Given the description of an element on the screen output the (x, y) to click on. 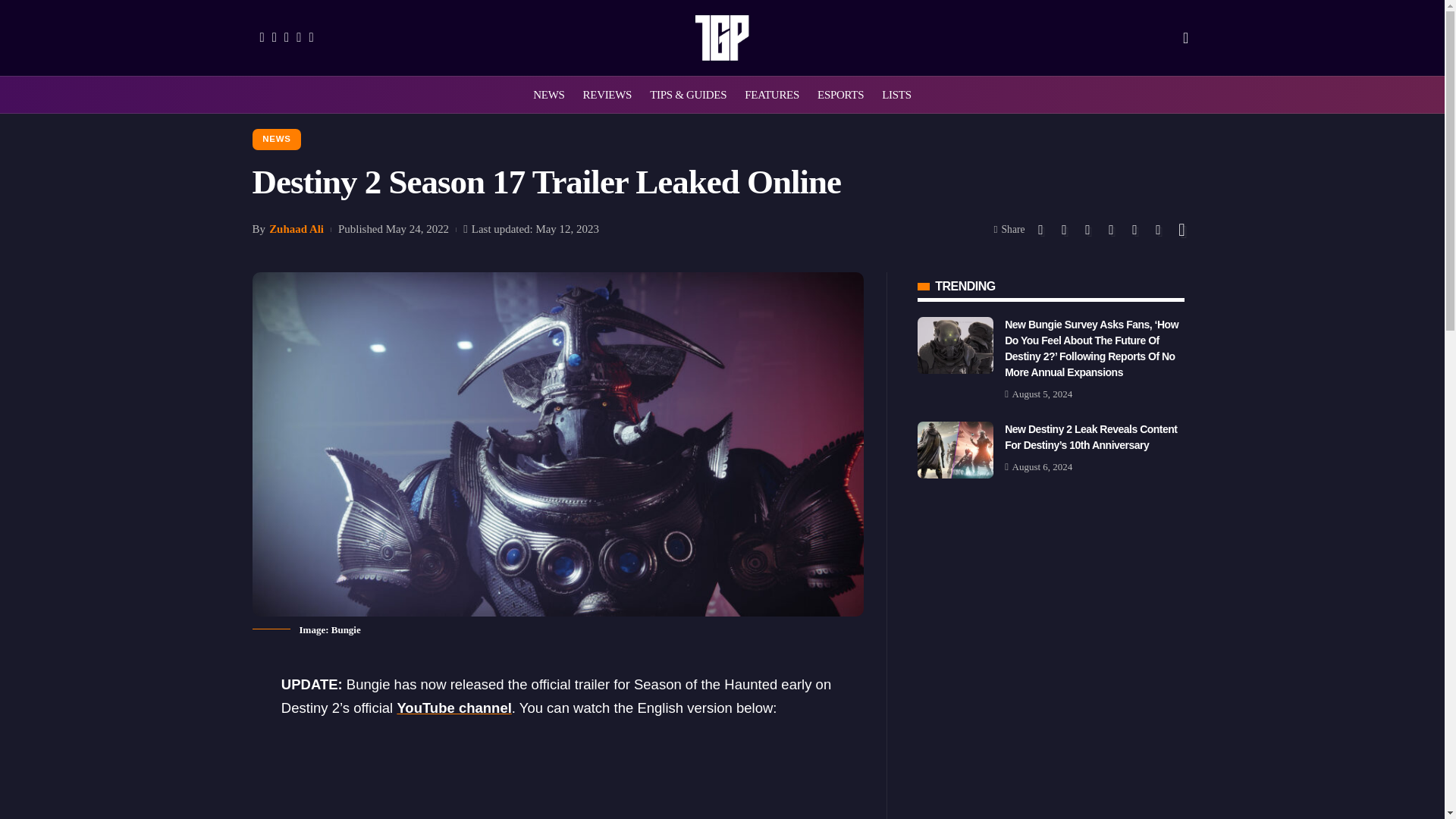
REVIEWS (607, 94)
LISTS (896, 94)
ESPORTS (840, 94)
The Game Post (721, 37)
NEWS (548, 94)
FEATURES (771, 94)
